Given the description of an element on the screen output the (x, y) to click on. 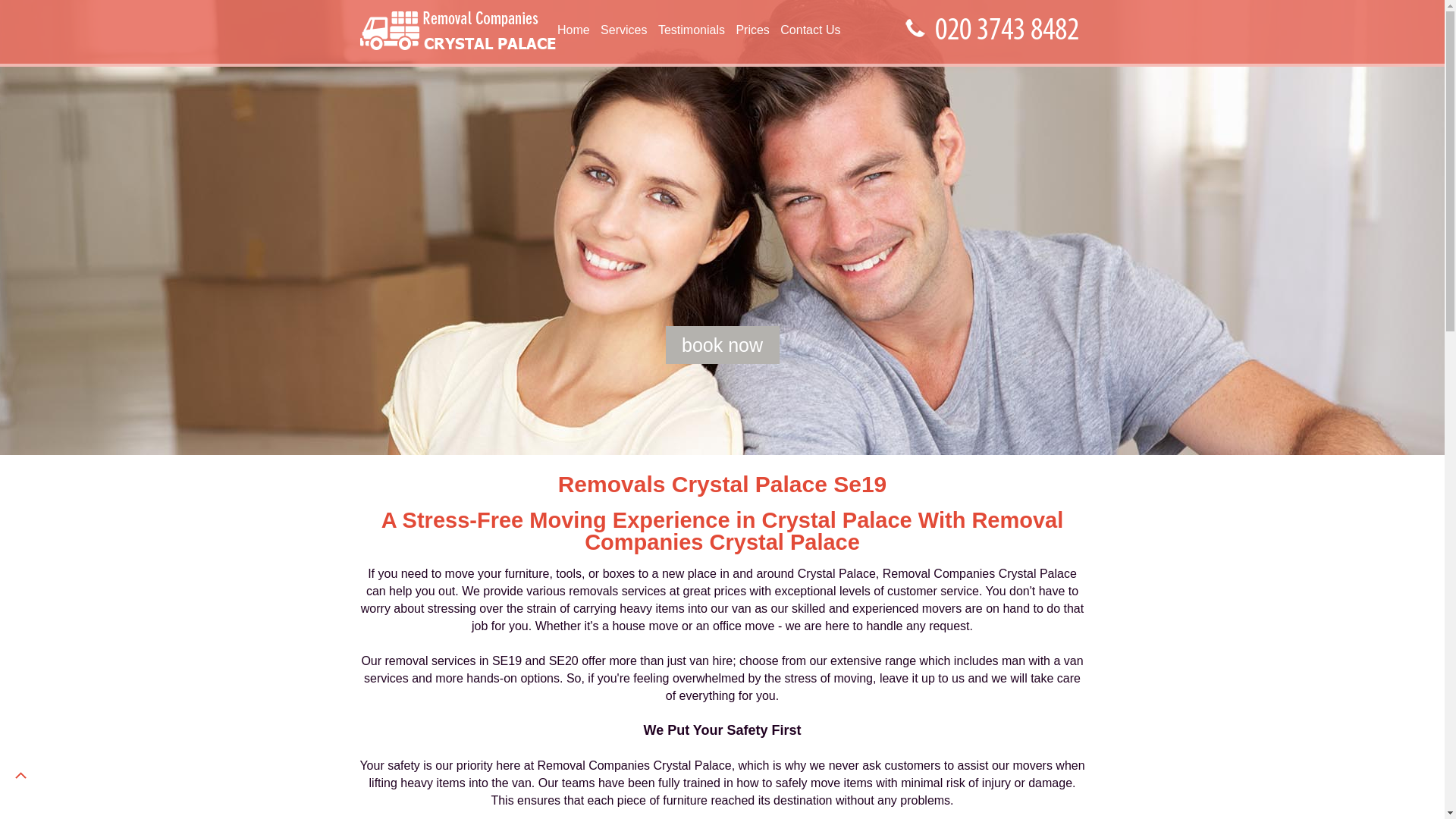
Contact Us (810, 30)
book now (721, 344)
Call Now! (1010, 30)
Contact Us (810, 30)
Testimonials (691, 30)
Go top (20, 775)
Testimonials (691, 30)
